Given the description of an element on the screen output the (x, y) to click on. 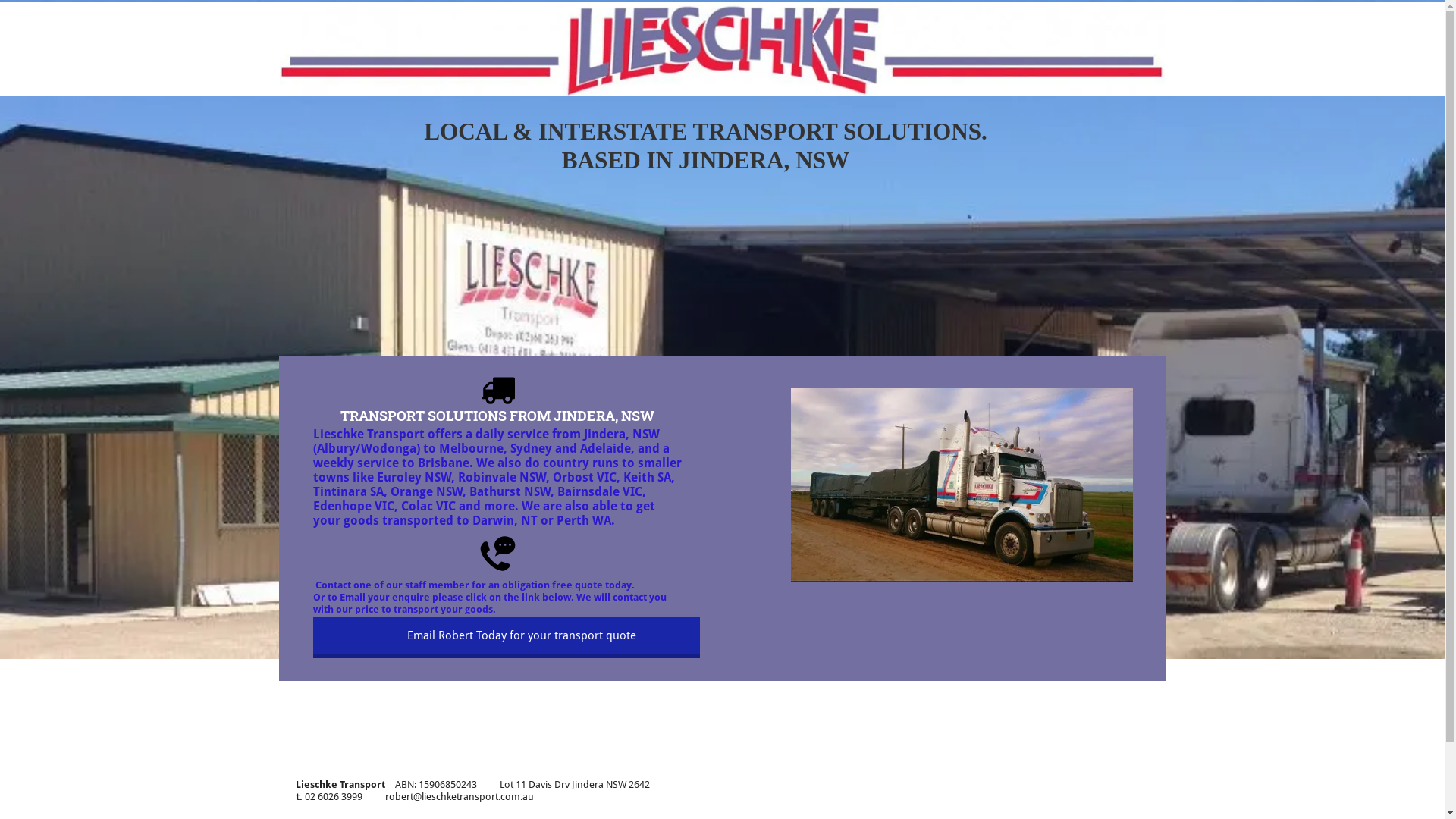
lieschke transport solution Element type: hover (721, 48)
Email Robert Today for your transport quote Element type: text (505, 637)
lieschke transport professional heavy transport trucks Element type: hover (961, 484)
robert@lieschketransport.com.au Element type: text (459, 796)
02 6026 3999 Element type: text (333, 796)
